Given the description of an element on the screen output the (x, y) to click on. 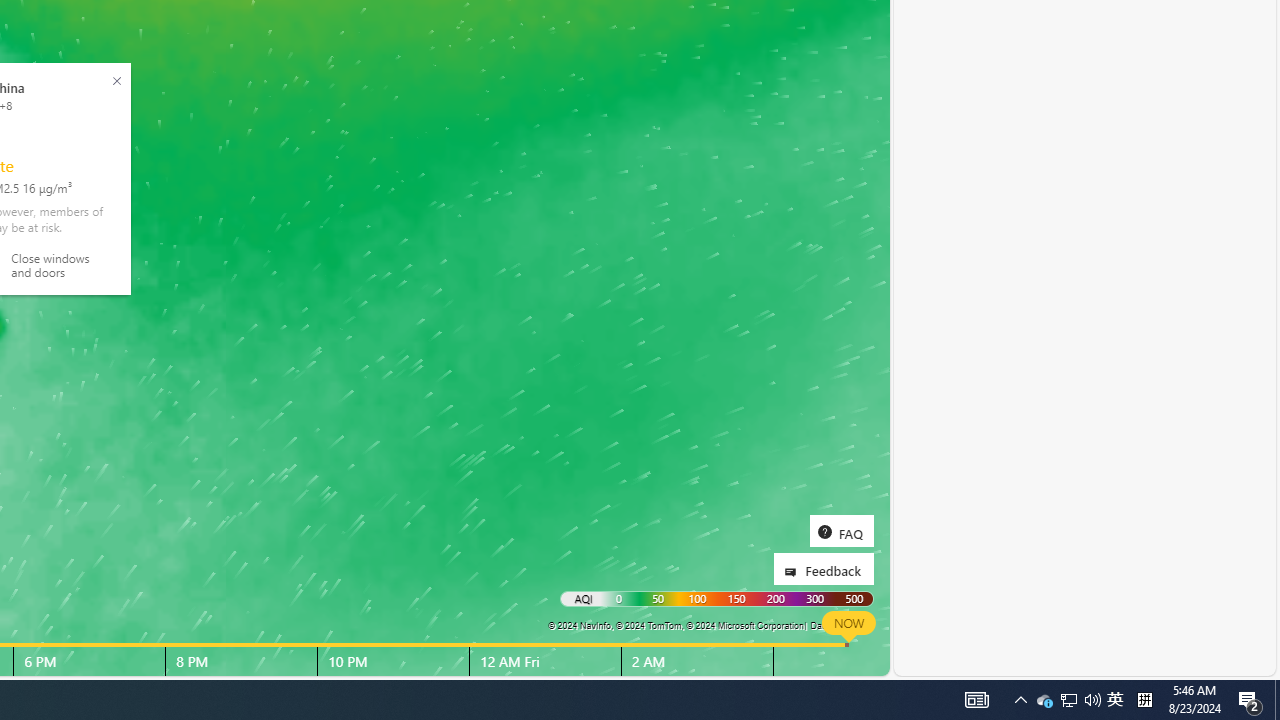
Data Providers (840, 625)
FAQ (841, 530)
Class: feedback_link_icon-DS-EntryPoint1-1 (794, 571)
Feedback (824, 568)
